Given the description of an element on the screen output the (x, y) to click on. 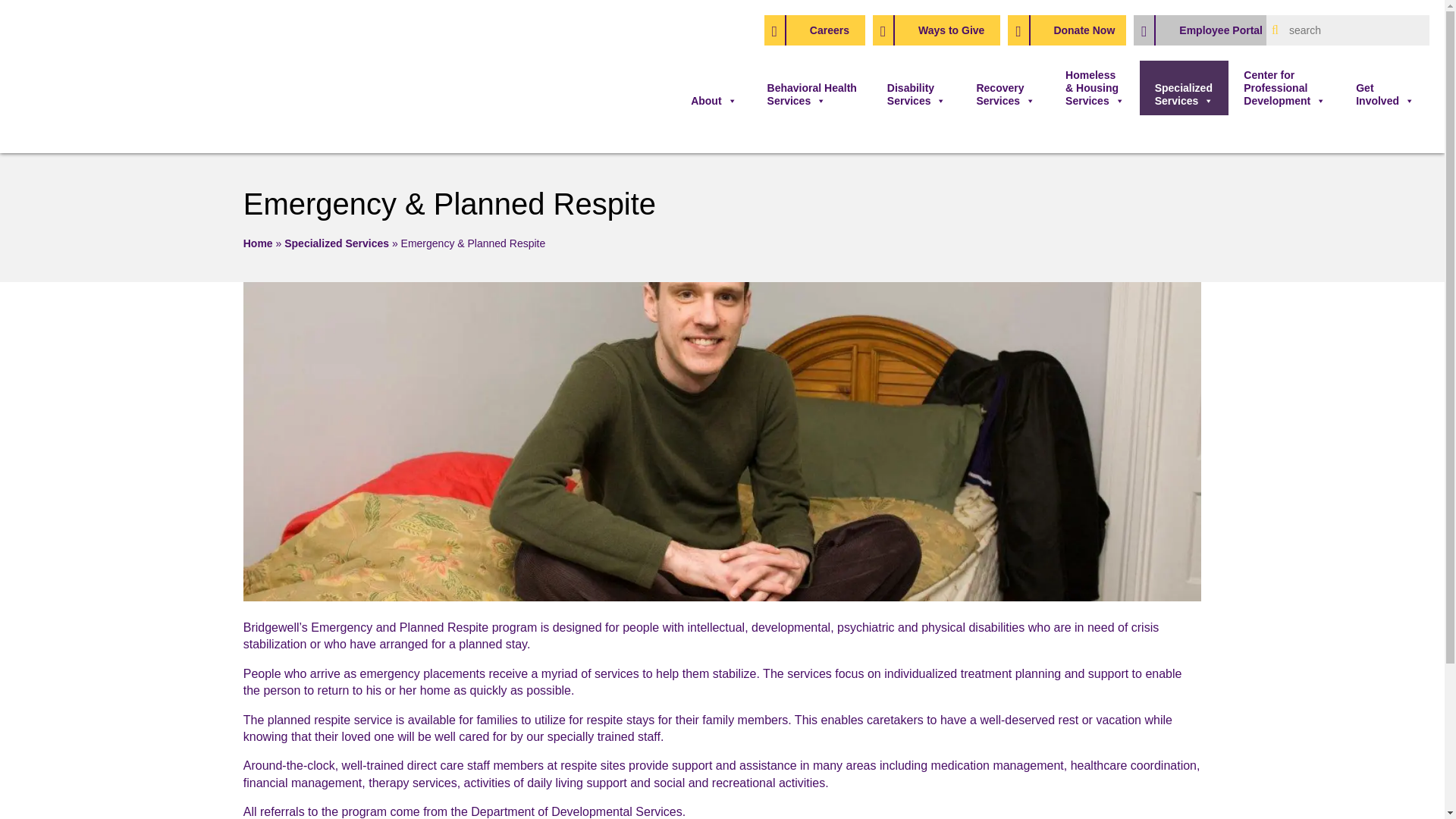
Ways to Give (936, 30)
Donate Now (1066, 30)
Employee Portal (1204, 30)
Careers (814, 30)
About (713, 87)
